Given the description of an element on the screen output the (x, y) to click on. 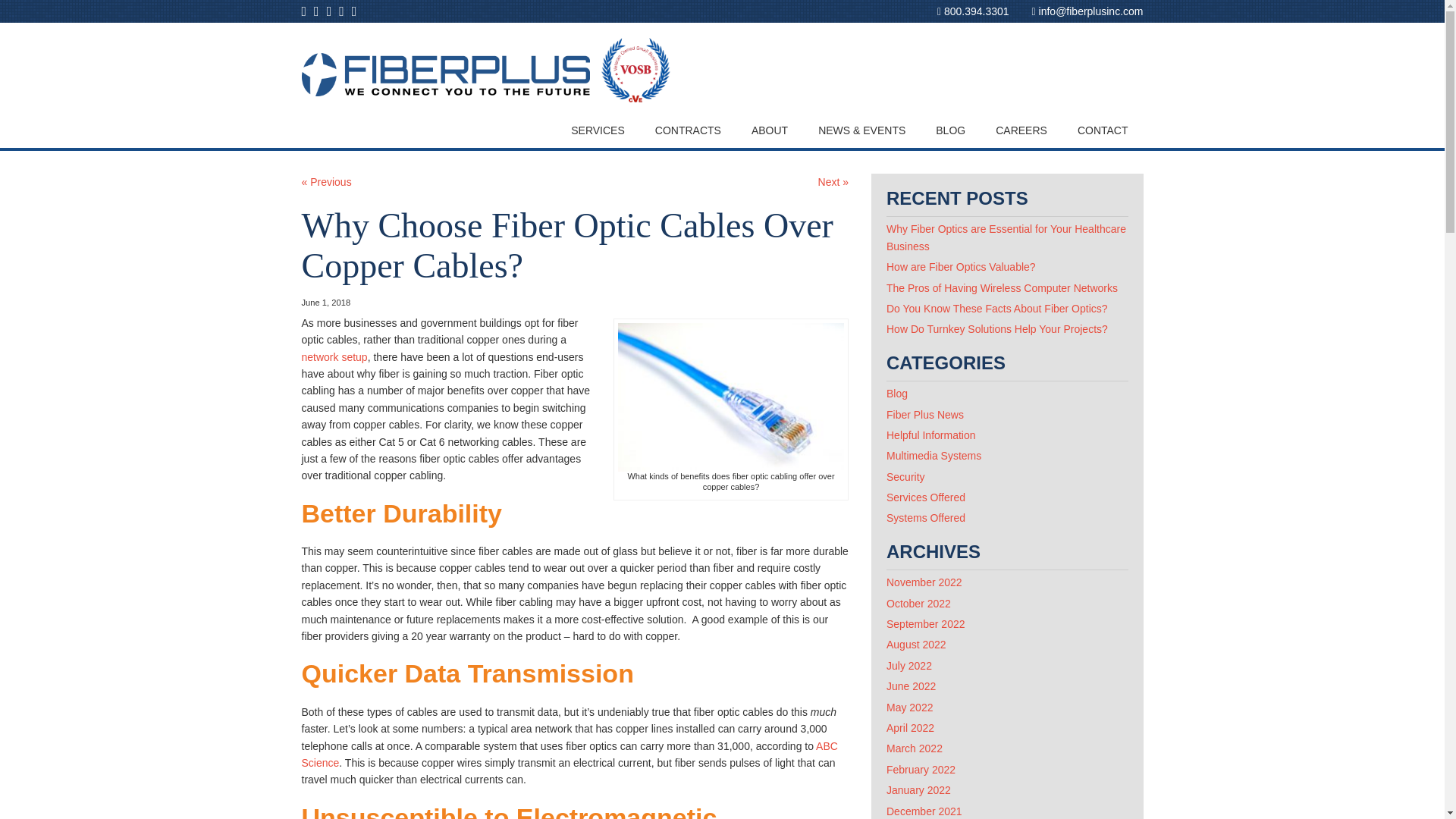
SERVICES (598, 130)
800.394.3301 (973, 10)
ABOUT (769, 130)
CONTRACTS (688, 130)
